Given the description of an element on the screen output the (x, y) to click on. 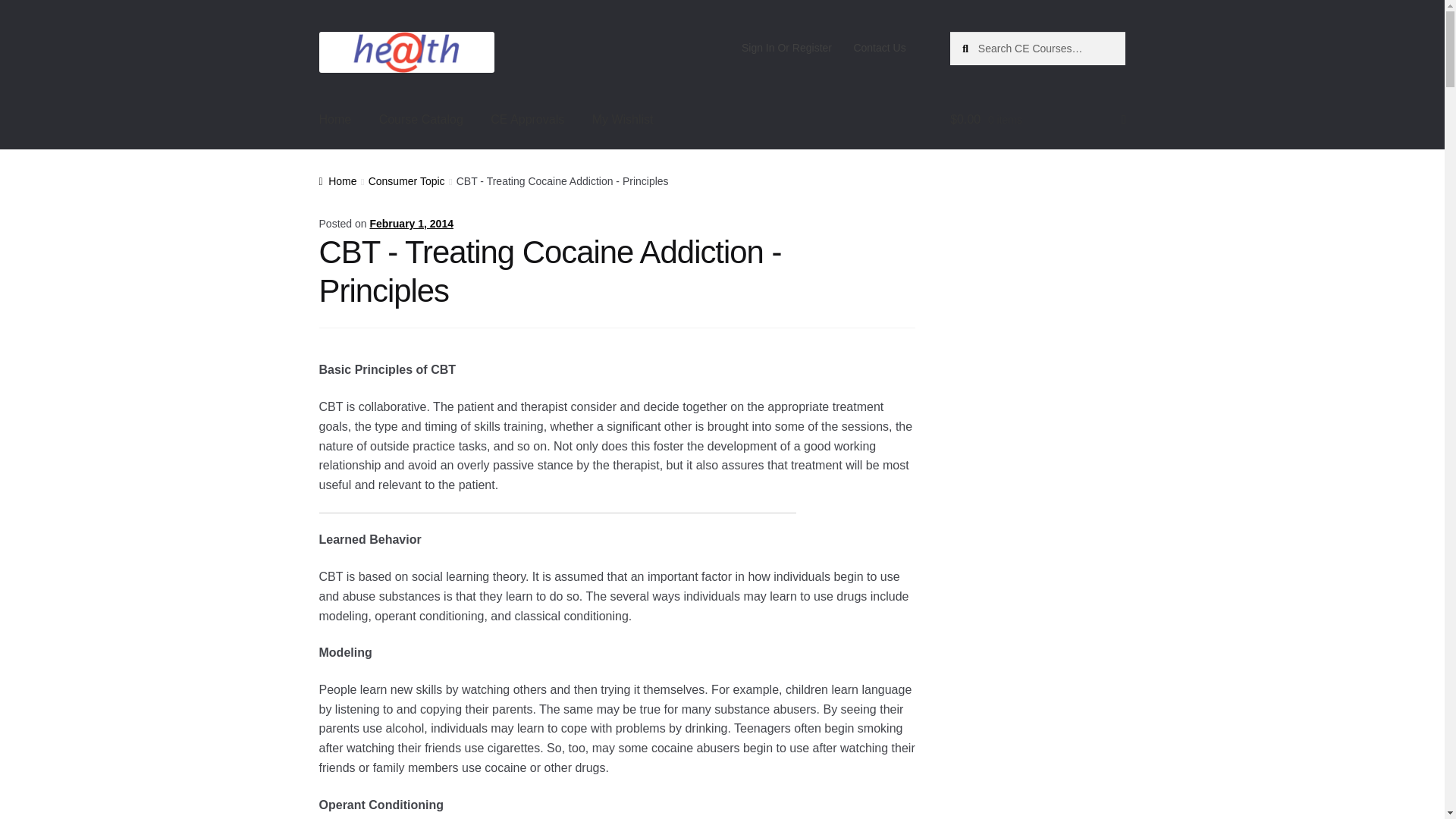
Course Catalog (421, 119)
Consumer Topic (406, 181)
Home (335, 119)
Search for: (1037, 48)
Course Catalog (421, 119)
Contact Us (879, 47)
View your shopping cart (1037, 119)
Sign In Or Register (786, 47)
CE Approvals (527, 119)
